Given the description of an element on the screen output the (x, y) to click on. 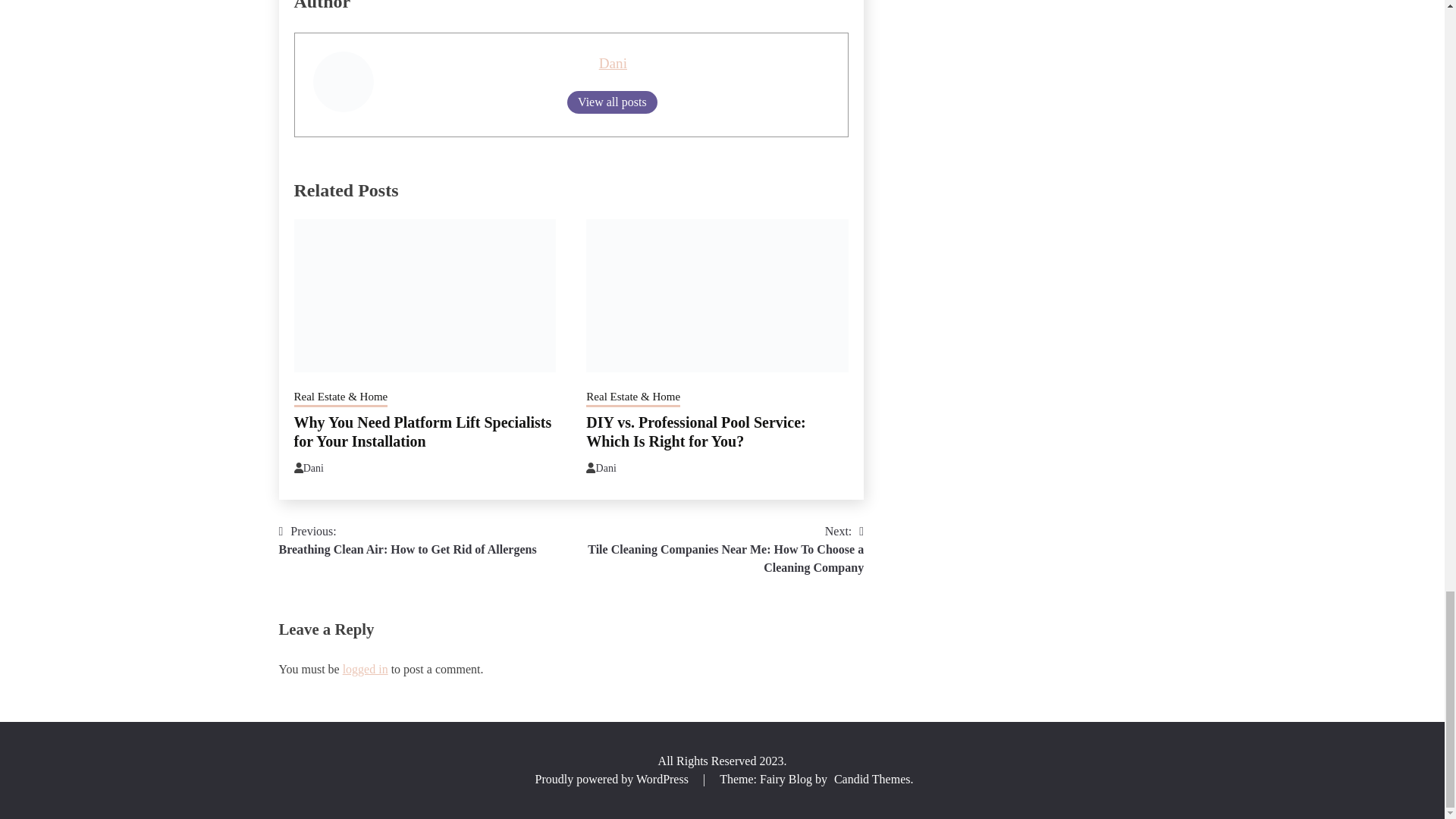
logged in (365, 668)
View all posts (612, 101)
Dani (612, 63)
Dani (312, 468)
Why You Need Platform Lift Specialists for Your Installation (422, 431)
Dani (605, 468)
Dani (612, 63)
DIY vs. Professional Pool Service: Which Is Right for You? (408, 540)
View all posts (695, 431)
